Given the description of an element on the screen output the (x, y) to click on. 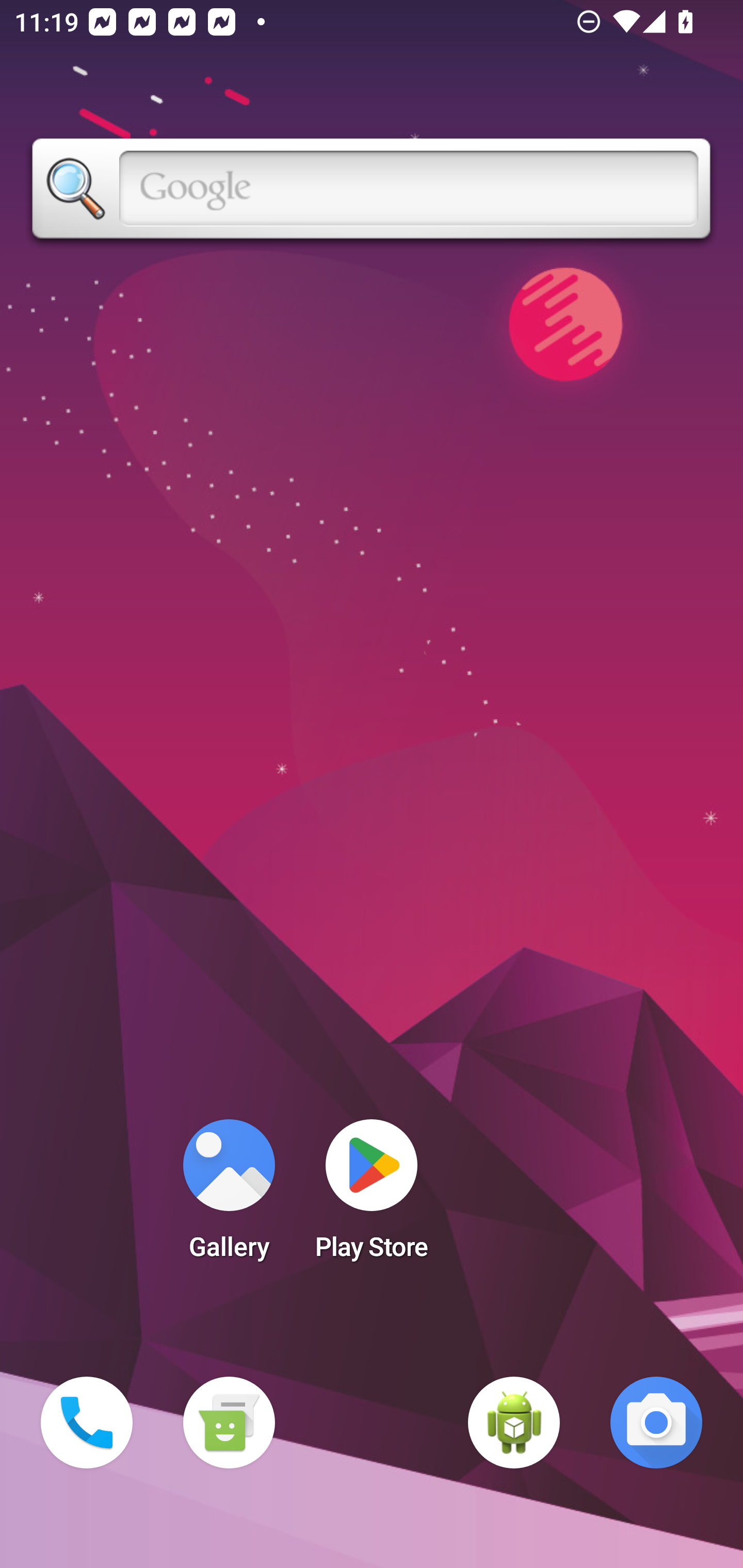
Gallery (228, 1195)
Play Store (371, 1195)
Phone (86, 1422)
Messaging (228, 1422)
WebView Browser Tester (513, 1422)
Camera (656, 1422)
